Given the description of an element on the screen output the (x, y) to click on. 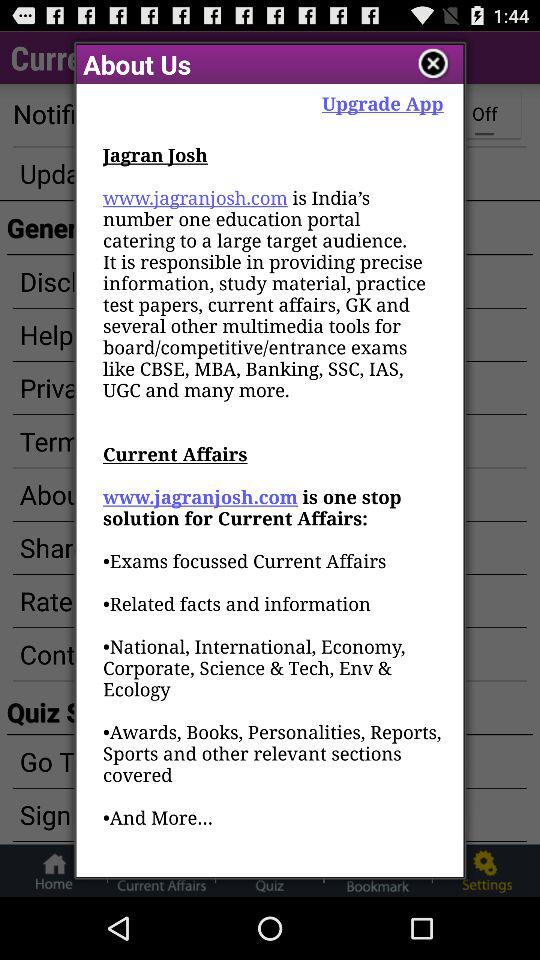
swipe until jagran josh www item (273, 509)
